Given the description of an element on the screen output the (x, y) to click on. 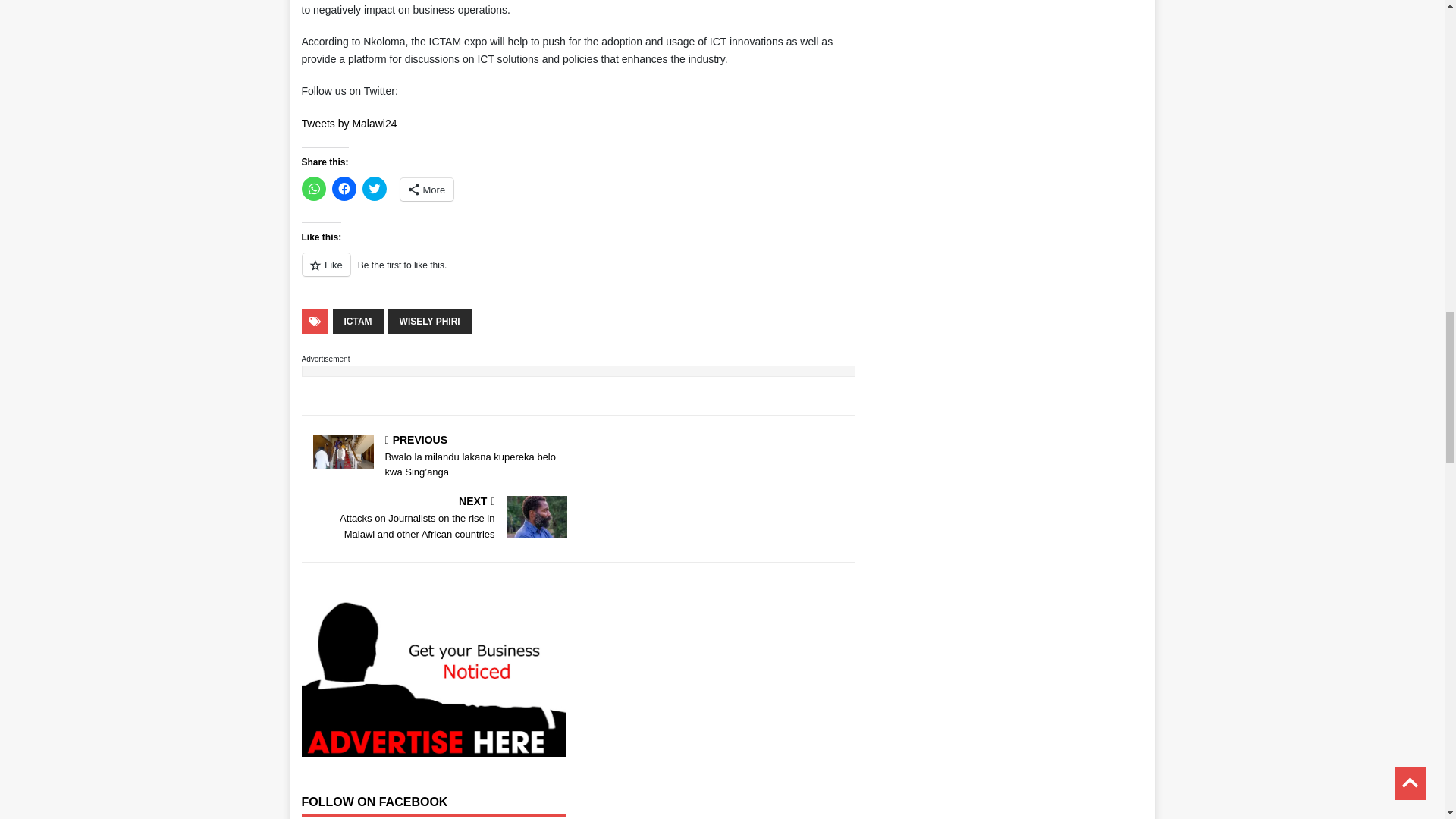
Click to share on WhatsApp (313, 188)
